Given the description of an element on the screen output the (x, y) to click on. 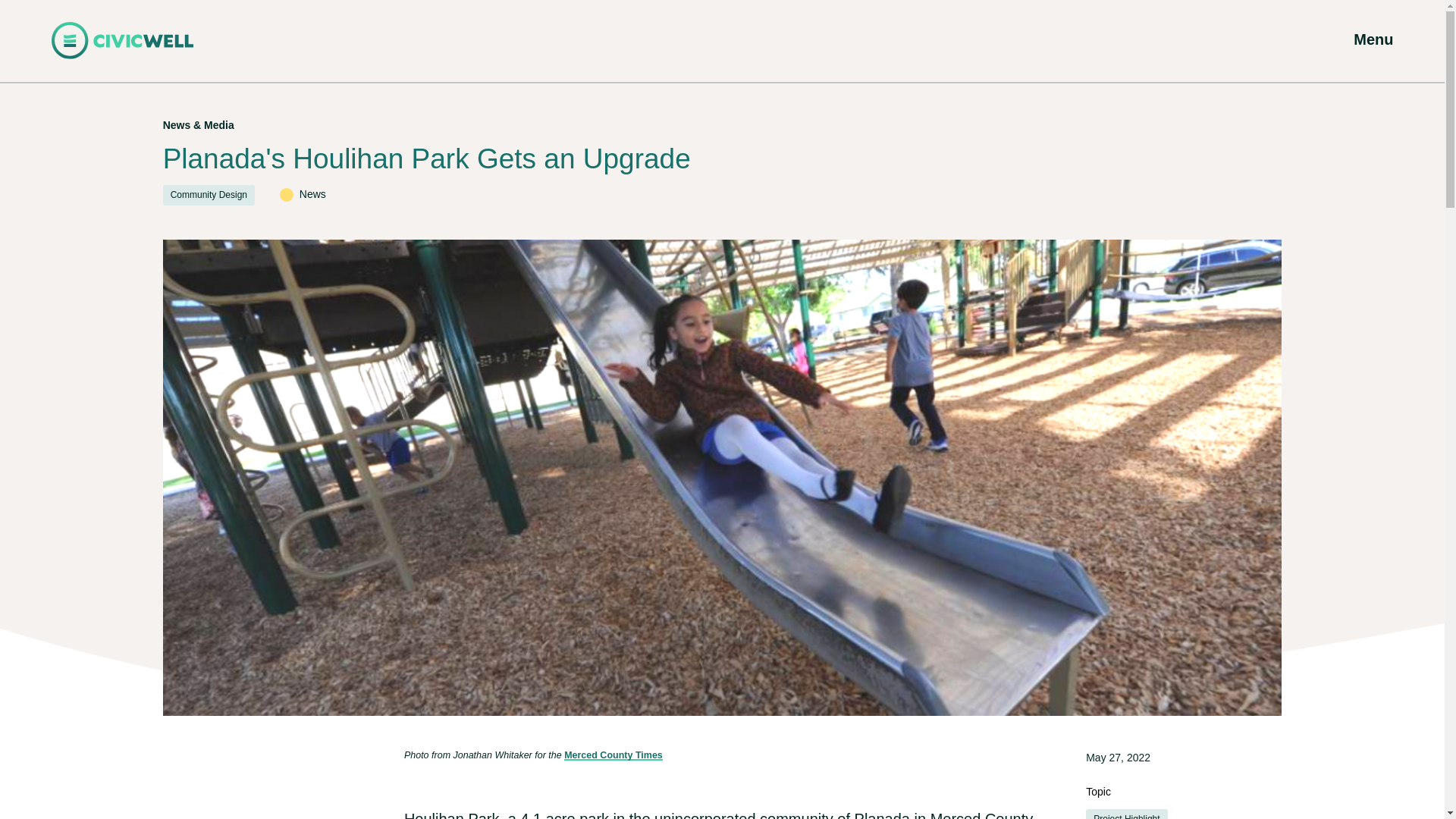
Project Highlight (1126, 814)
Merced County Times (613, 755)
